Given the description of an element on the screen output the (x, y) to click on. 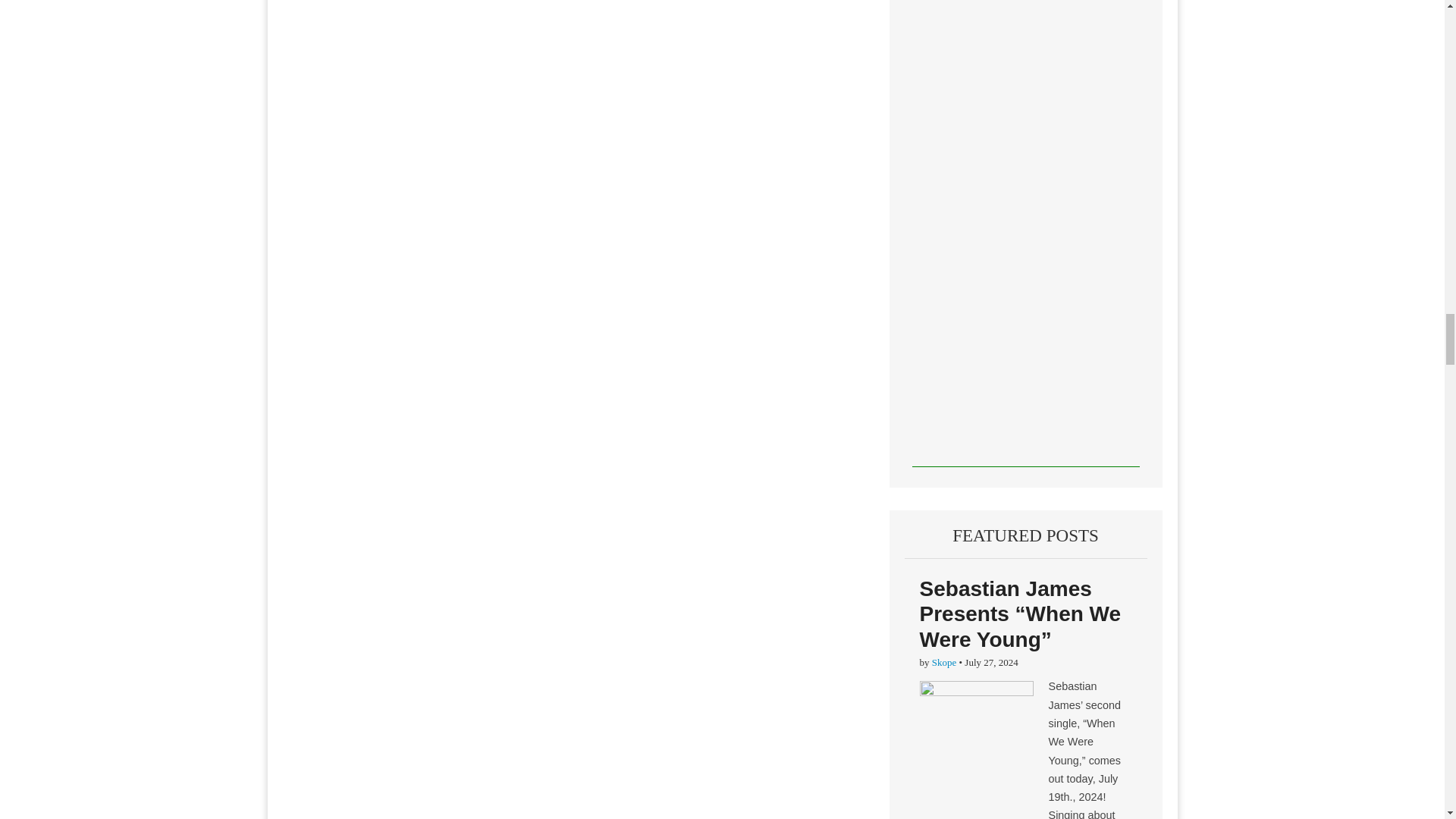
Posts by Skope (943, 662)
